Given the description of an element on the screen output the (x, y) to click on. 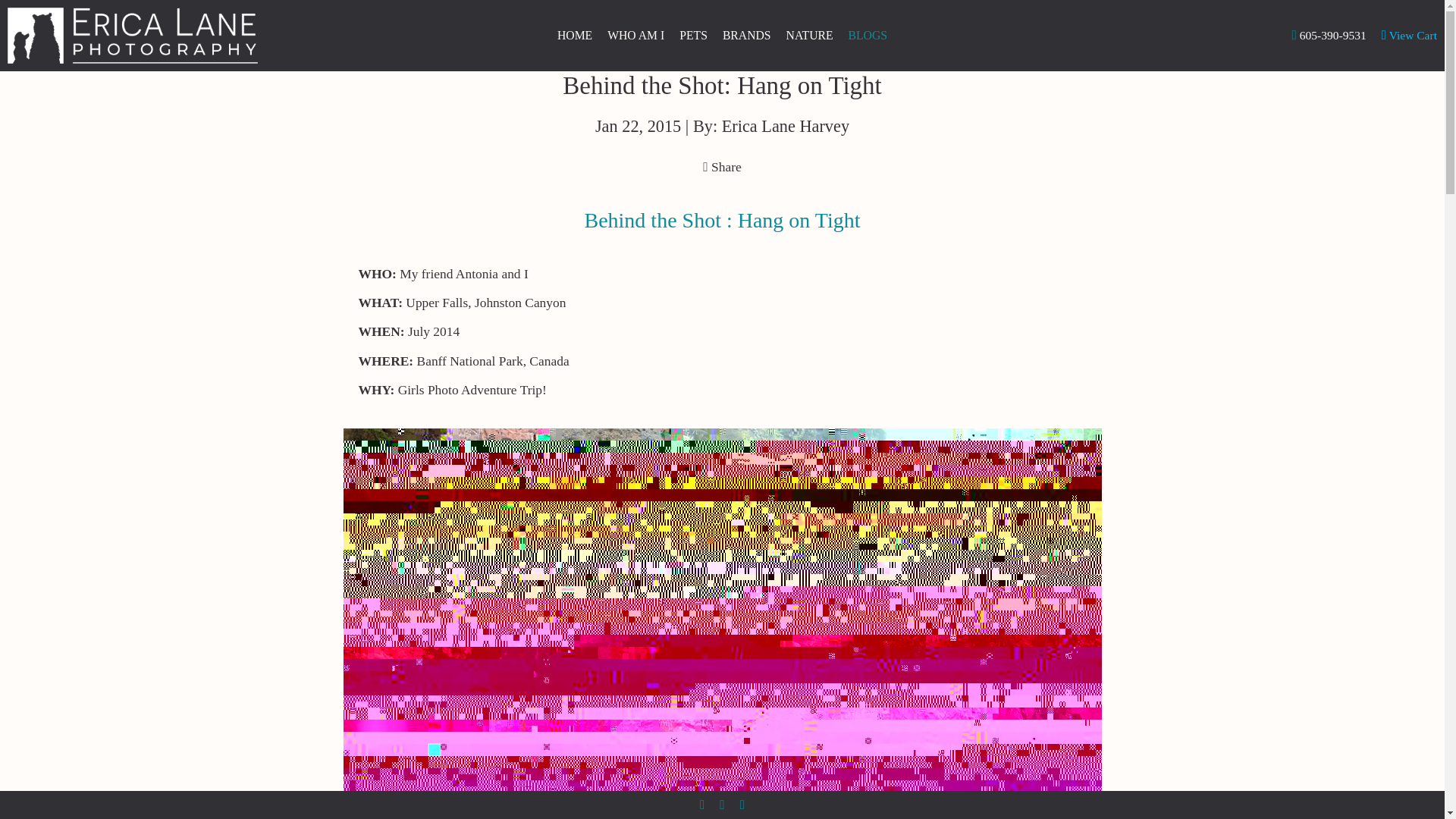
BRANDS (746, 35)
NATURE (809, 35)
WHO AM I (635, 35)
605-390-9531 (1329, 35)
BLOGS (867, 35)
View Cart (1409, 34)
HOME (574, 35)
PETS (693, 35)
